Given the description of an element on the screen output the (x, y) to click on. 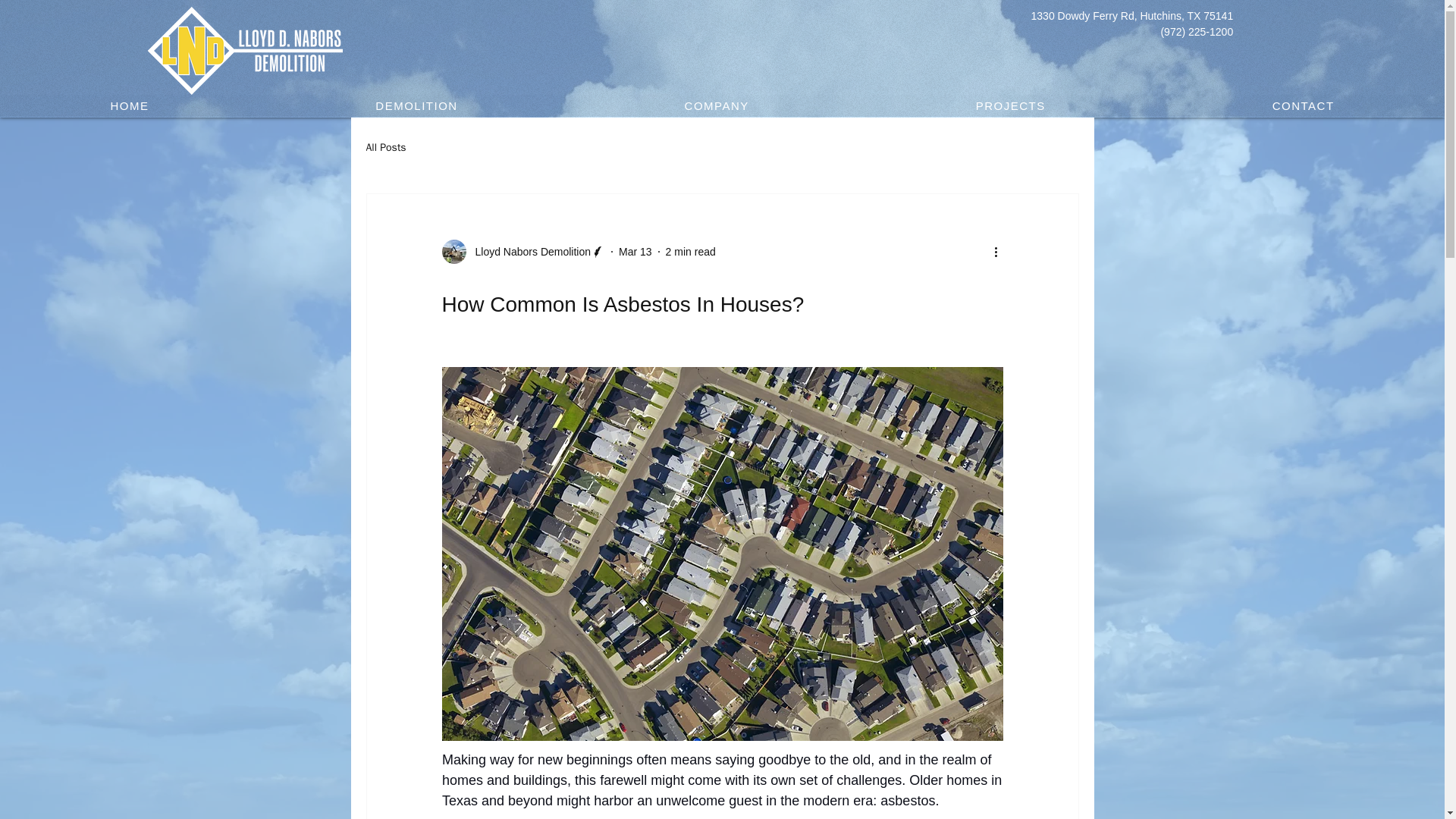
HOME (129, 106)
Lloyd Nabors Demolition (528, 252)
2 min read (690, 251)
Lloyd Nabors Demolition (523, 251)
Mar 13 (635, 251)
All Posts (385, 147)
